Given the description of an element on the screen output the (x, y) to click on. 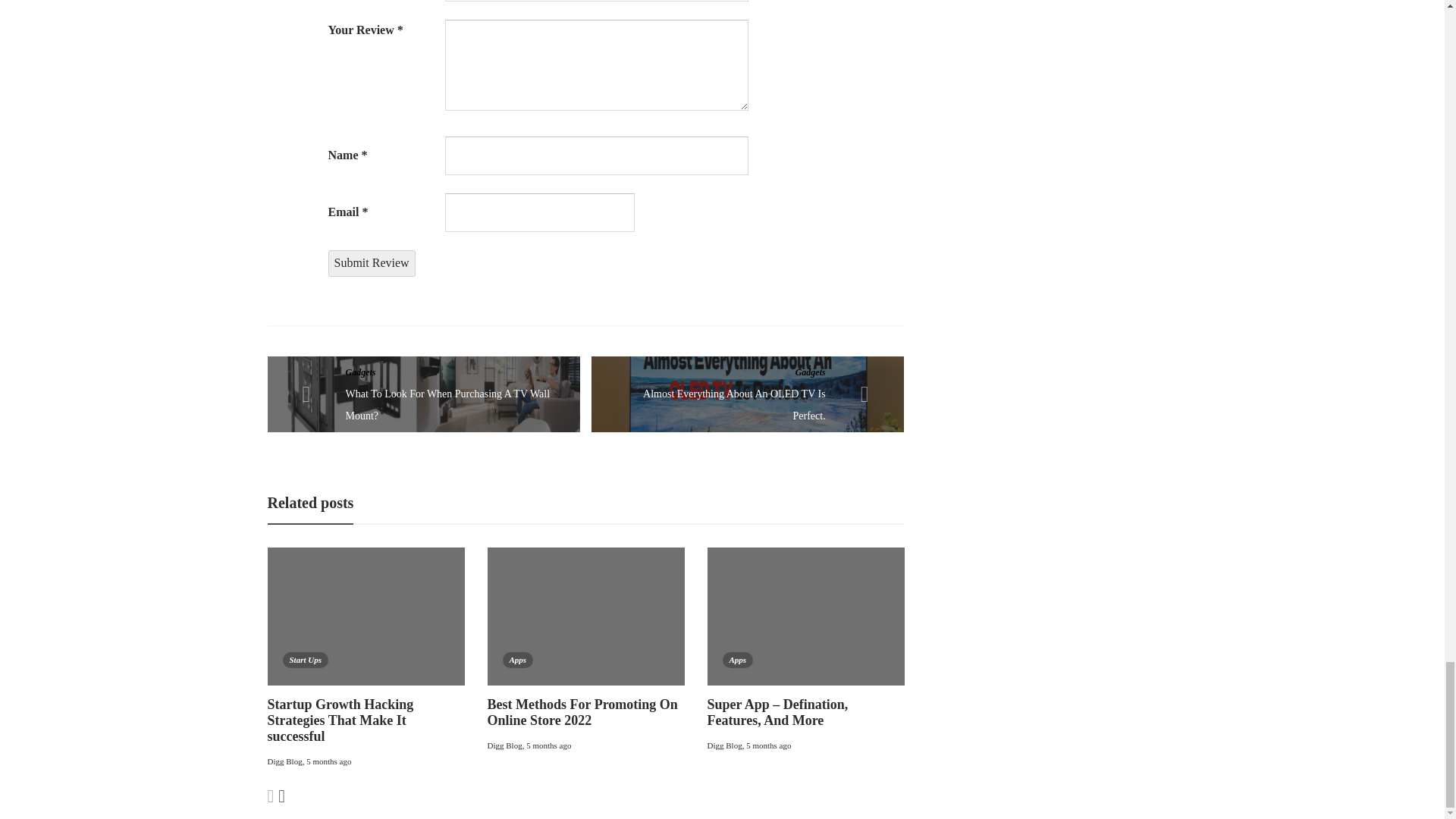
Submit Review (370, 263)
